Given the description of an element on the screen output the (x, y) to click on. 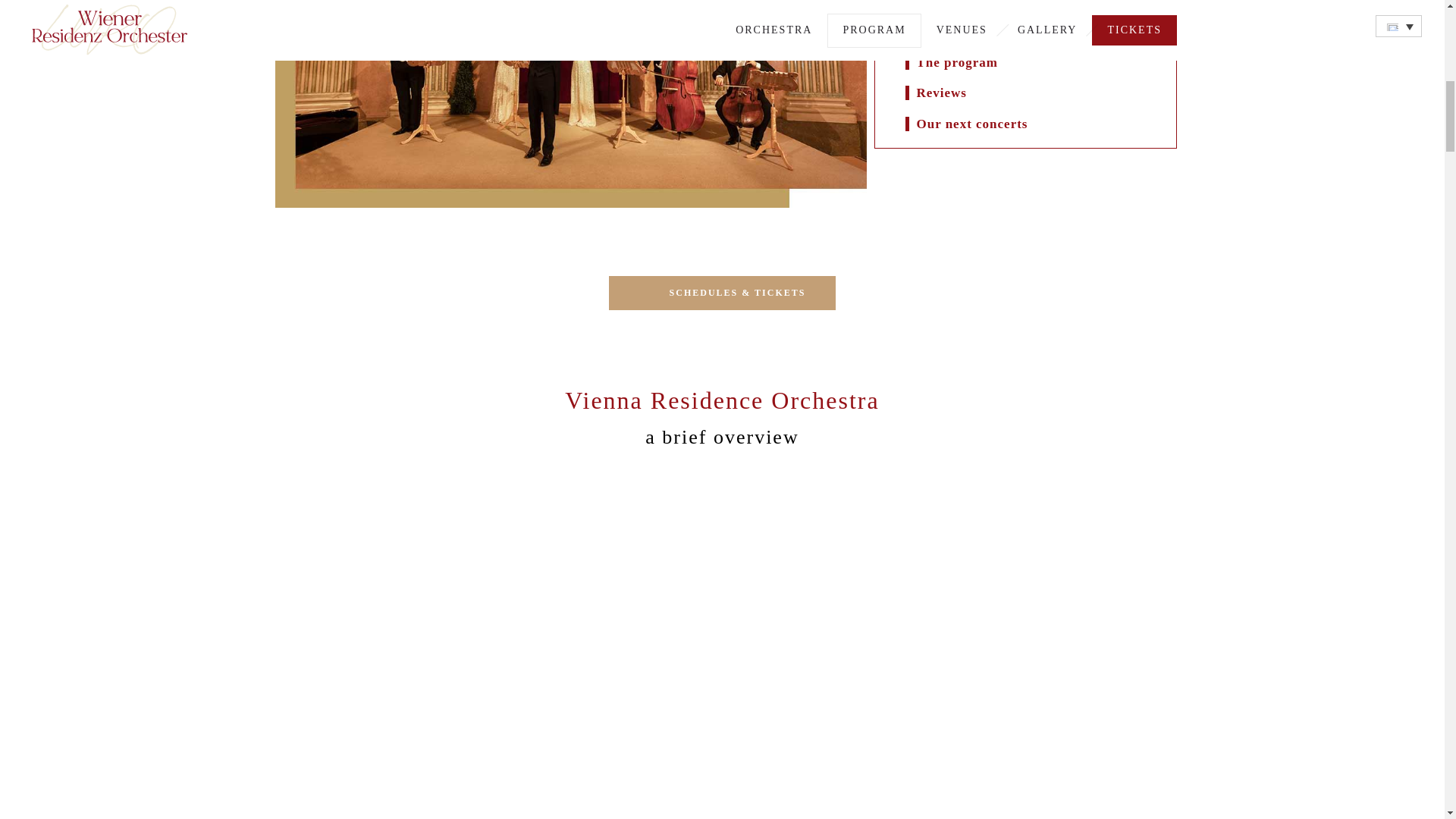
Reviews (940, 92)
The program (956, 62)
Our ensemble (958, 32)
Other composers of our concerts (1016, 4)
